Given the description of an element on the screen output the (x, y) to click on. 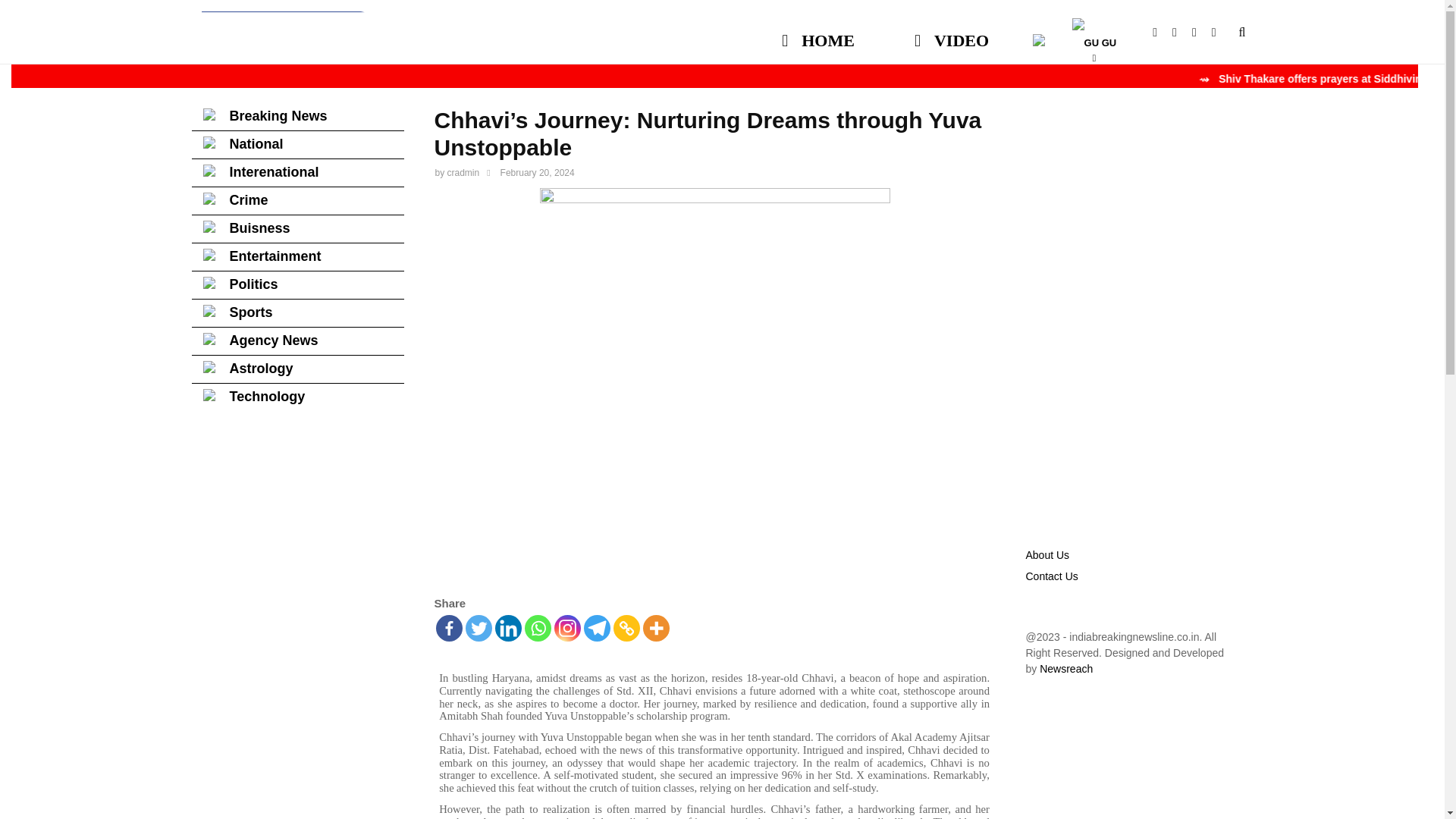
Twitter (478, 628)
More (656, 628)
GU (1094, 33)
Facebook (1162, 31)
Copy Link (625, 628)
Instagram (566, 628)
Whatsapp (537, 628)
VIDEO (950, 33)
HOME (818, 33)
Youtube (1182, 31)
Facebook (448, 628)
Telegram (596, 628)
Whatsapp (1221, 31)
Linkedin (508, 628)
Email (1201, 31)
